Given the description of an element on the screen output the (x, y) to click on. 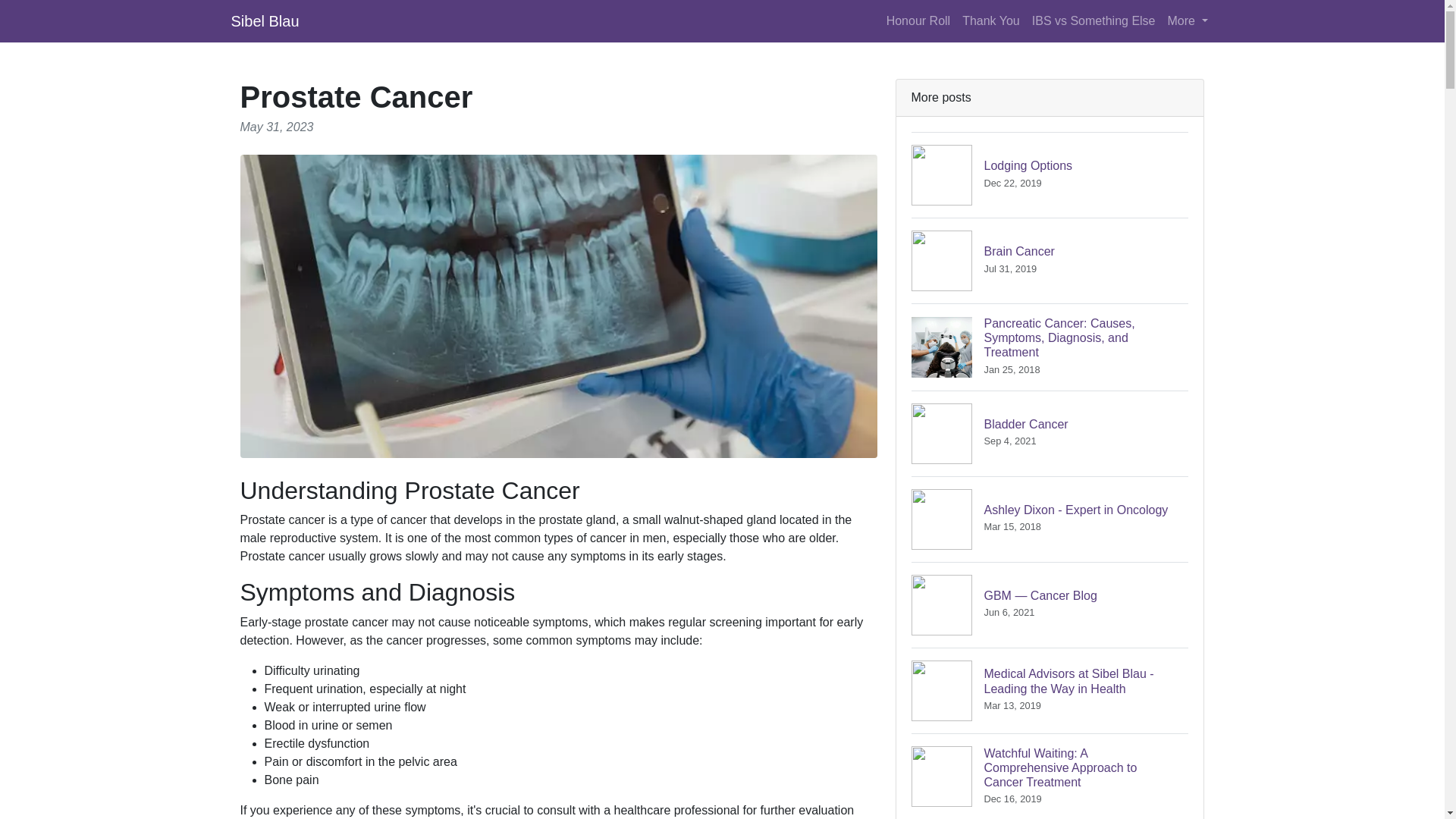
More (1050, 174)
IBS vs Something Else (1187, 20)
Thank You (1050, 432)
Sibel Blau (1093, 20)
Honour Roll (1050, 518)
